Given the description of an element on the screen output the (x, y) to click on. 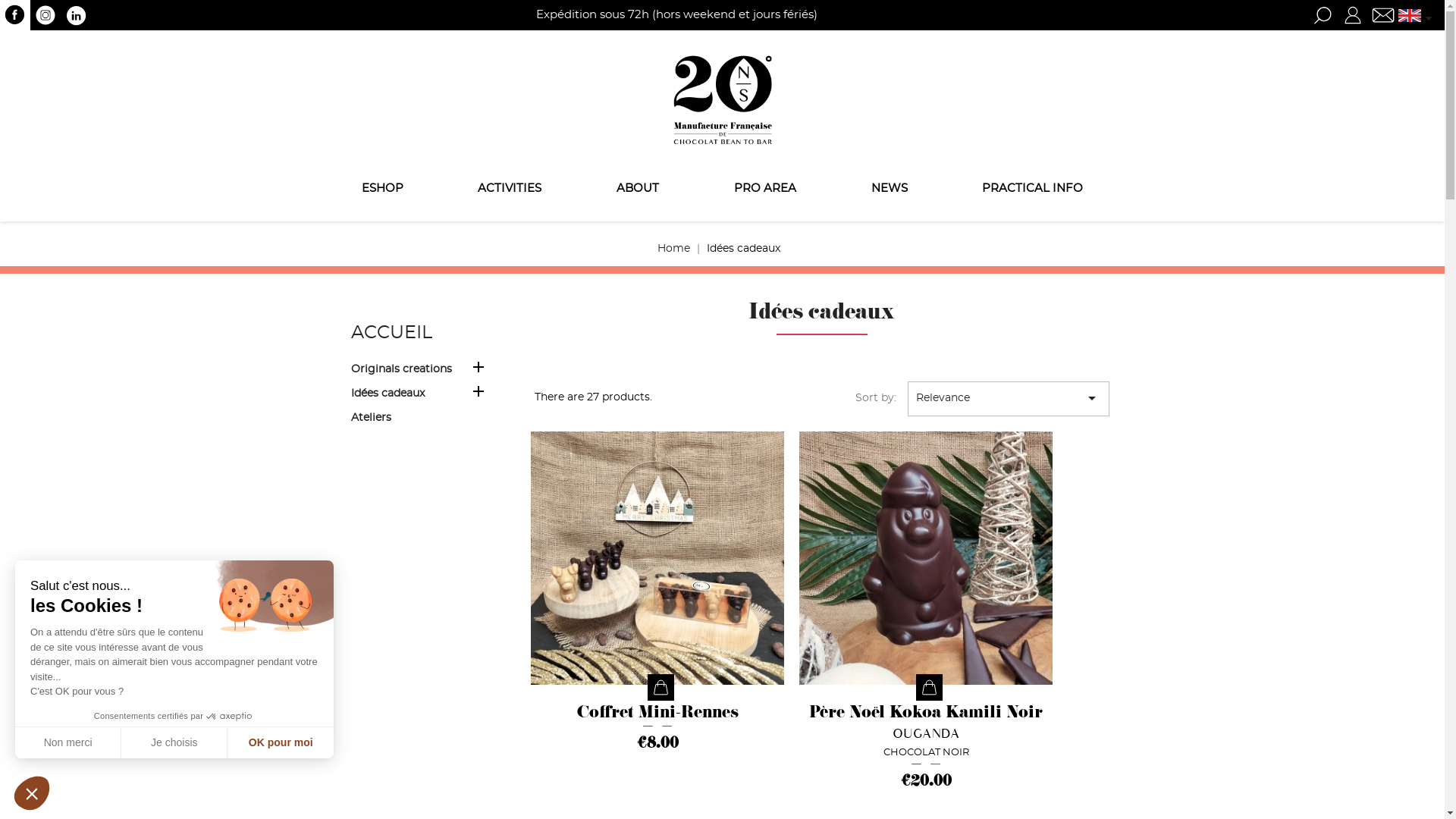
Facebook Element type: text (15, 15)
ABOUT Element type: text (637, 189)
Contact Element type: hover (1383, 15)
OUGANDA Element type: text (925, 734)
PRACTICAL INFO Element type: text (1032, 189)
Fermer le widget sans consentement Element type: hover (31, 793)
Log in to your customer account Element type: hover (1352, 15)
PRO AREA Element type: text (764, 189)
Home Element type: text (672, 248)
Je choisis Element type: text (174, 742)
ACCUEIL Element type: text (390, 332)
Ateliers Element type: text (423, 419)
NEWS Element type: text (888, 189)
CHOCOLAT NOIR Element type: text (925, 752)
Instagram Element type: text (45, 15)
Originals creations Element type: text (423, 370)
ESHOP Element type: text (382, 189)
ACTIVITIES Element type: text (509, 189)
LinkedIn Element type: text (75, 15)
Non merci Element type: text (68, 742)
OK pour moi Element type: text (280, 742)
Coffret Mini-Rennes Element type: text (656, 714)
